Given the description of an element on the screen output the (x, y) to click on. 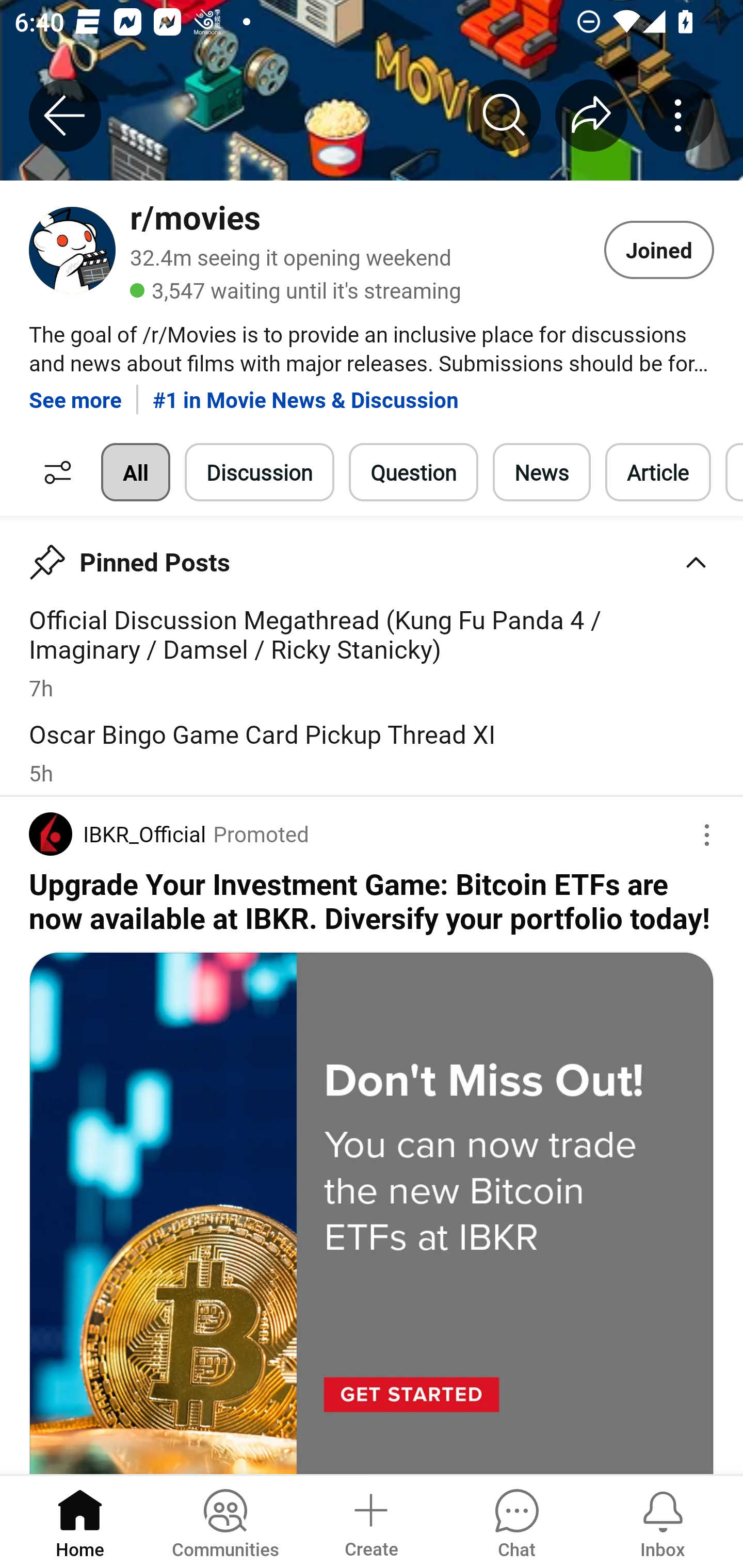
Back (64, 115)
Search r/﻿movies (504, 115)
Share r/﻿movies (591, 115)
More community actions (677, 115)
See more (74, 391)
#1 in Movie News & Discussion (305, 391)
Feed Options (53, 472)
All (135, 472)
Discussion (259, 472)
Question (413, 472)
News (541, 472)
Article (658, 472)
Pin Pinned Posts Caret (371, 555)
Oscar Bingo Game Card Pickup Thread XI 5h (371, 751)
Author IBKR_Official (116, 833)
Image (371, 1212)
Home (80, 1520)
Communities (225, 1520)
Create a post Create (370, 1520)
Chat (516, 1520)
Inbox (662, 1520)
